Given the description of an element on the screen output the (x, y) to click on. 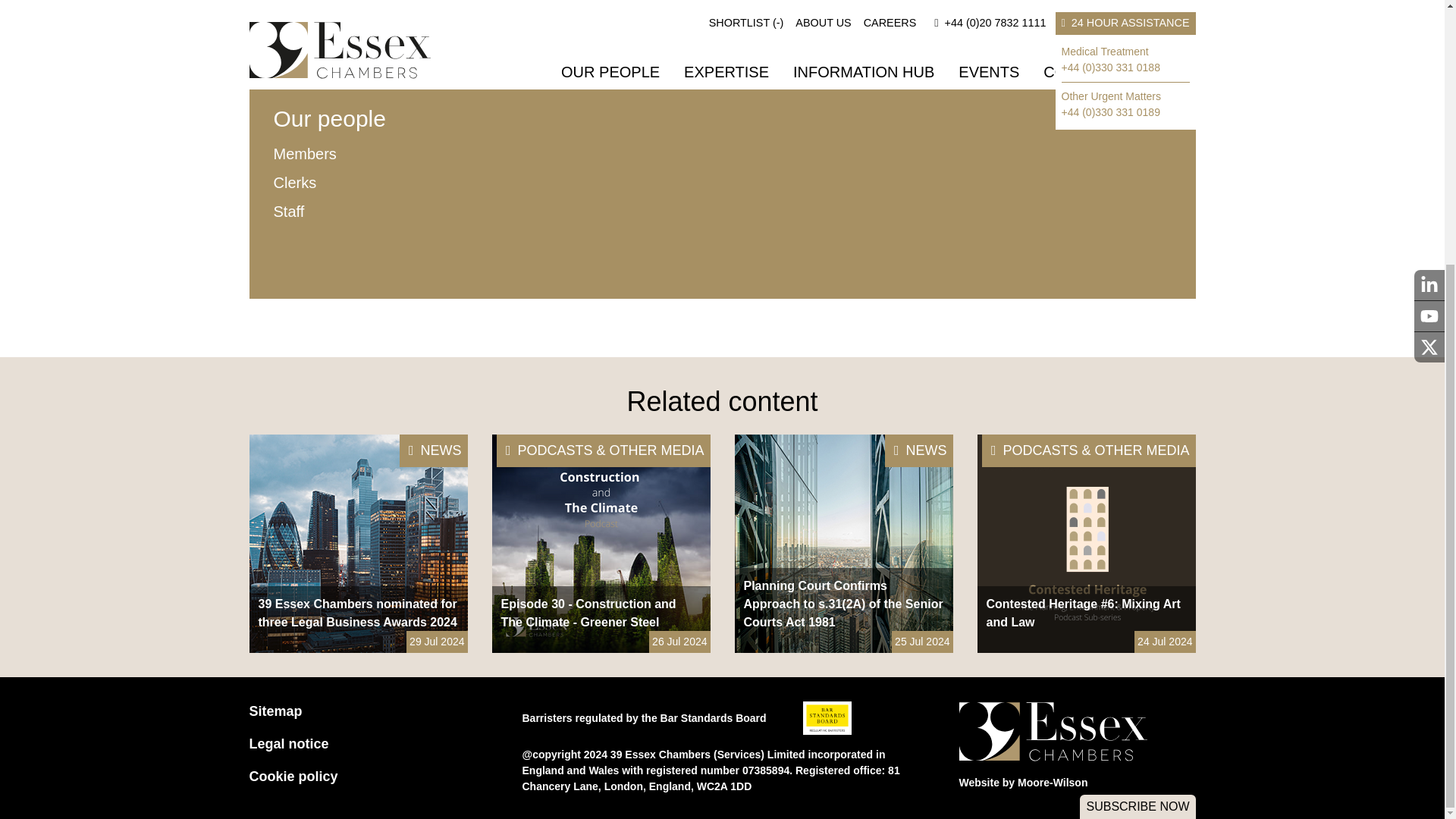
Chancery Bar Association Paper (739, 241)
